Given the description of an element on the screen output the (x, y) to click on. 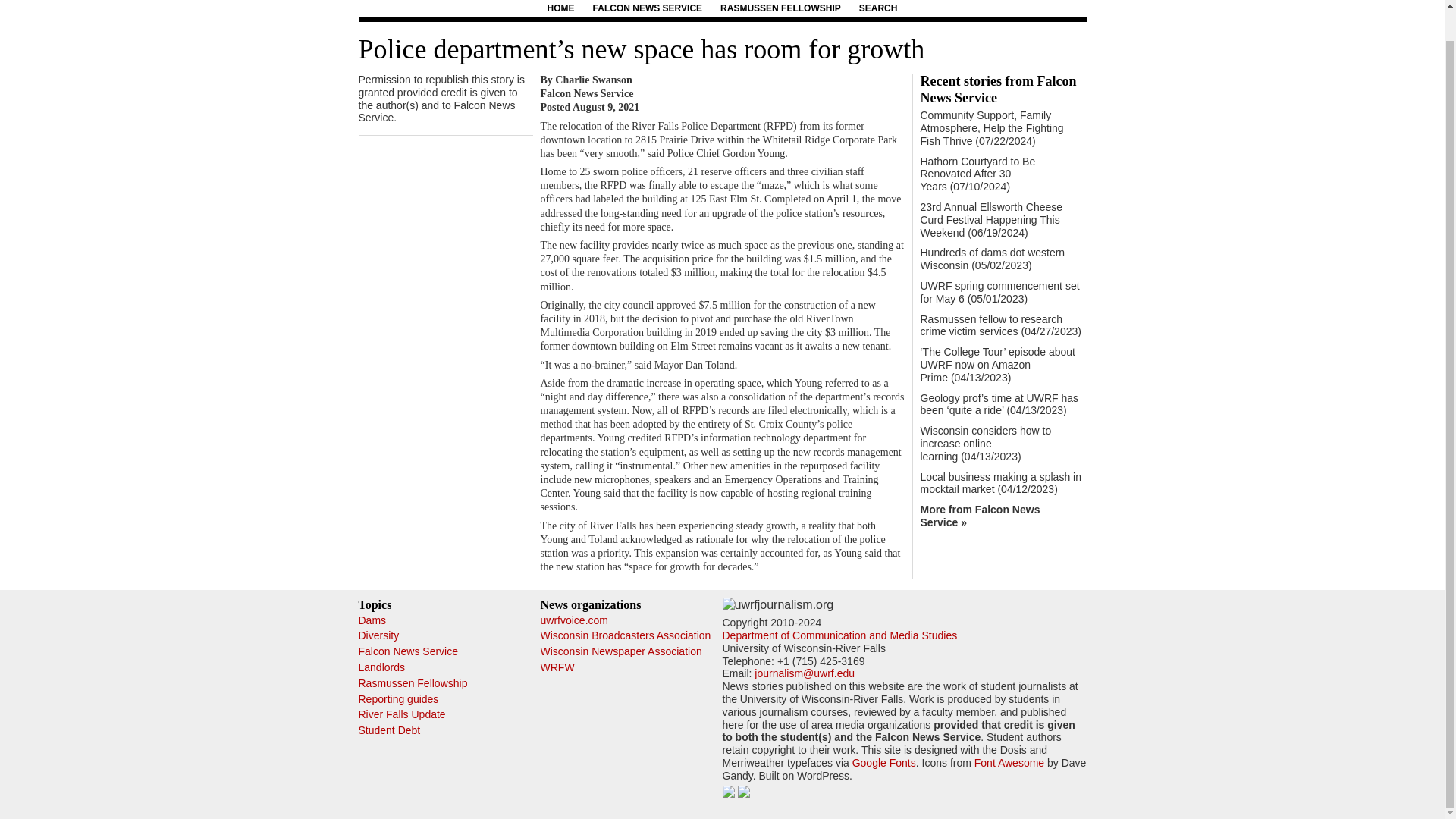
FALCON NEWS SERVICE (646, 8)
Diversity (378, 635)
Landlords (381, 666)
Google Fonts (883, 762)
Rasmussen Fellowship (412, 683)
Website of the Student Voice, the weekly campus newspaper. (573, 620)
Reporting guides (398, 698)
River Falls Update (401, 714)
RASMUSSEN FELLOWSHIP (780, 8)
Wisconsin Broadcasters Association (625, 635)
uwrfvoice.com (573, 620)
Wisconsin Newspaper Association (620, 651)
HOME (561, 8)
